Given the description of an element on the screen output the (x, y) to click on. 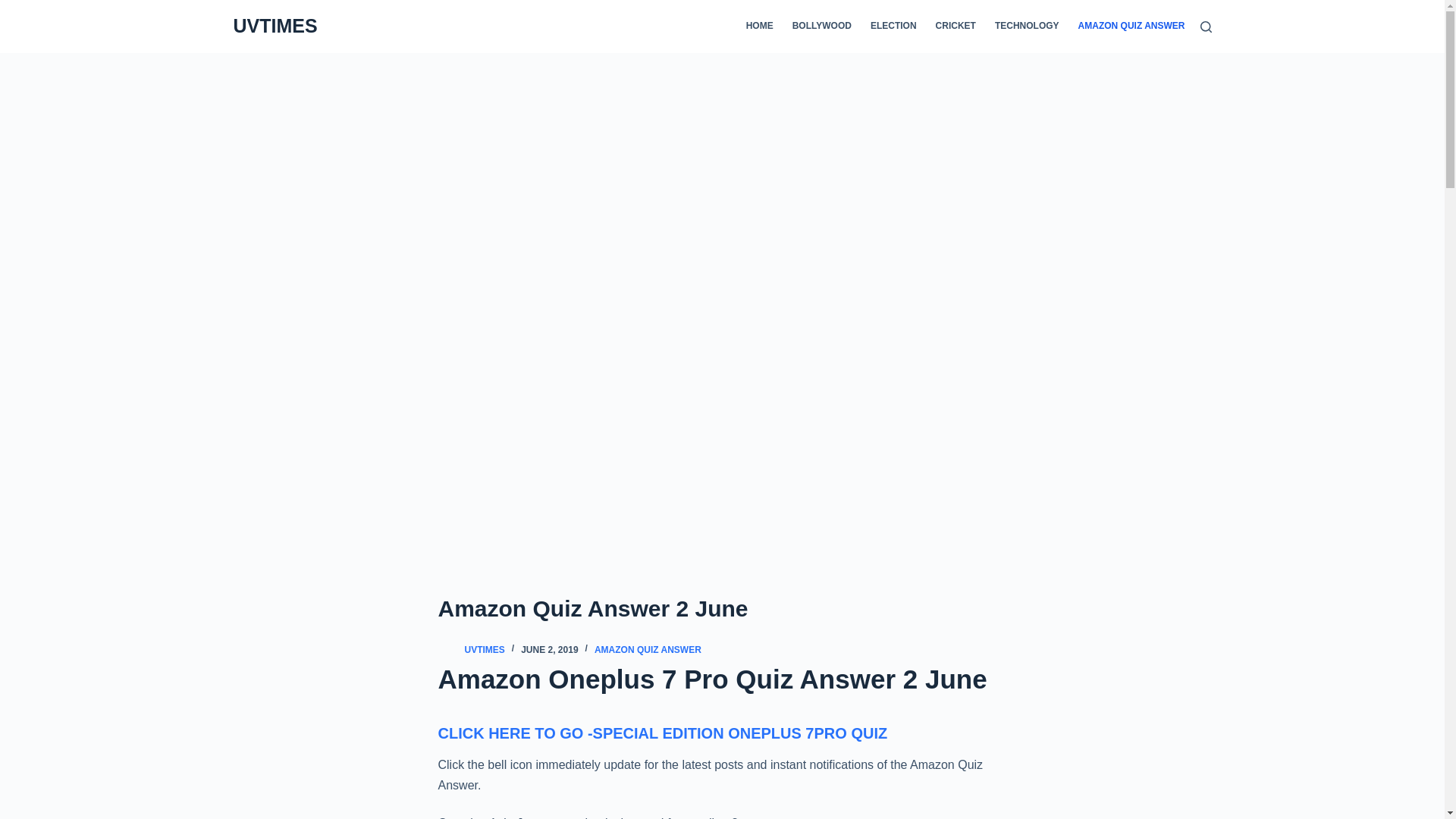
ELECTION (893, 26)
AMAZON QUIZ ANSWER (1126, 26)
TECHNOLOGY (1026, 26)
UVTIMES (274, 25)
Amazon Quiz Answer 2 June (722, 608)
UVTIMES (483, 649)
AMAZON QUIZ ANSWER (647, 649)
CRICKET (955, 26)
BOLLYWOOD (821, 26)
HOME (764, 26)
CLICK HERE TO GO -SPECIAL EDITION ONEPLUS 7PRO QUIZ (663, 733)
Posts by UVTIMES (483, 649)
Skip to content (15, 7)
